Given the description of an element on the screen output the (x, y) to click on. 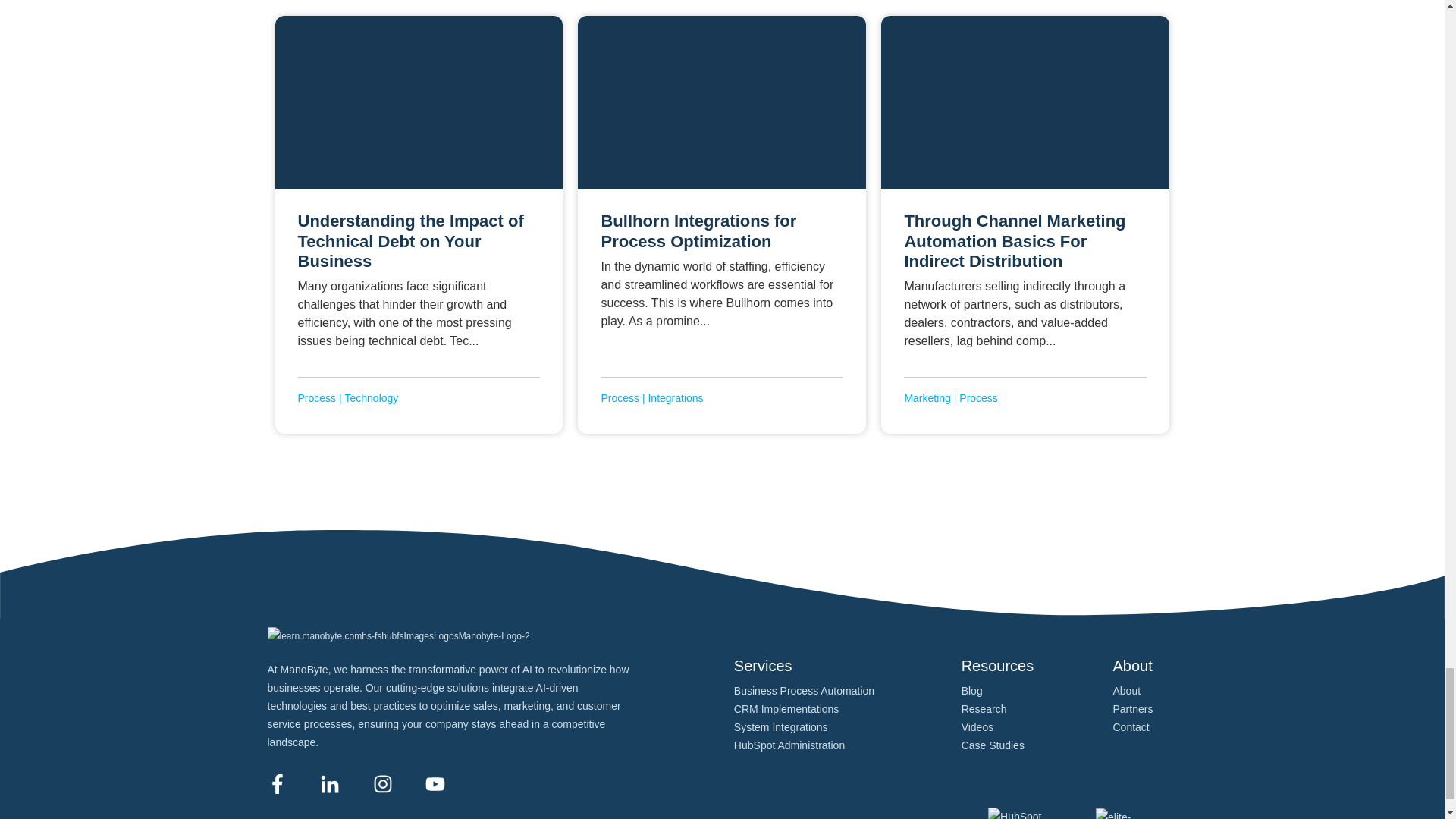
Follow us on LinkedIn (329, 783)
Follow us on Instagram (382, 783)
Follow us on Youtube (435, 783)
learn.manobyte.comhs-fshubfsImagesLogosManobyte-Logo-2 (397, 636)
Follow us on Facebook (276, 783)
